Given the description of an element on the screen output the (x, y) to click on. 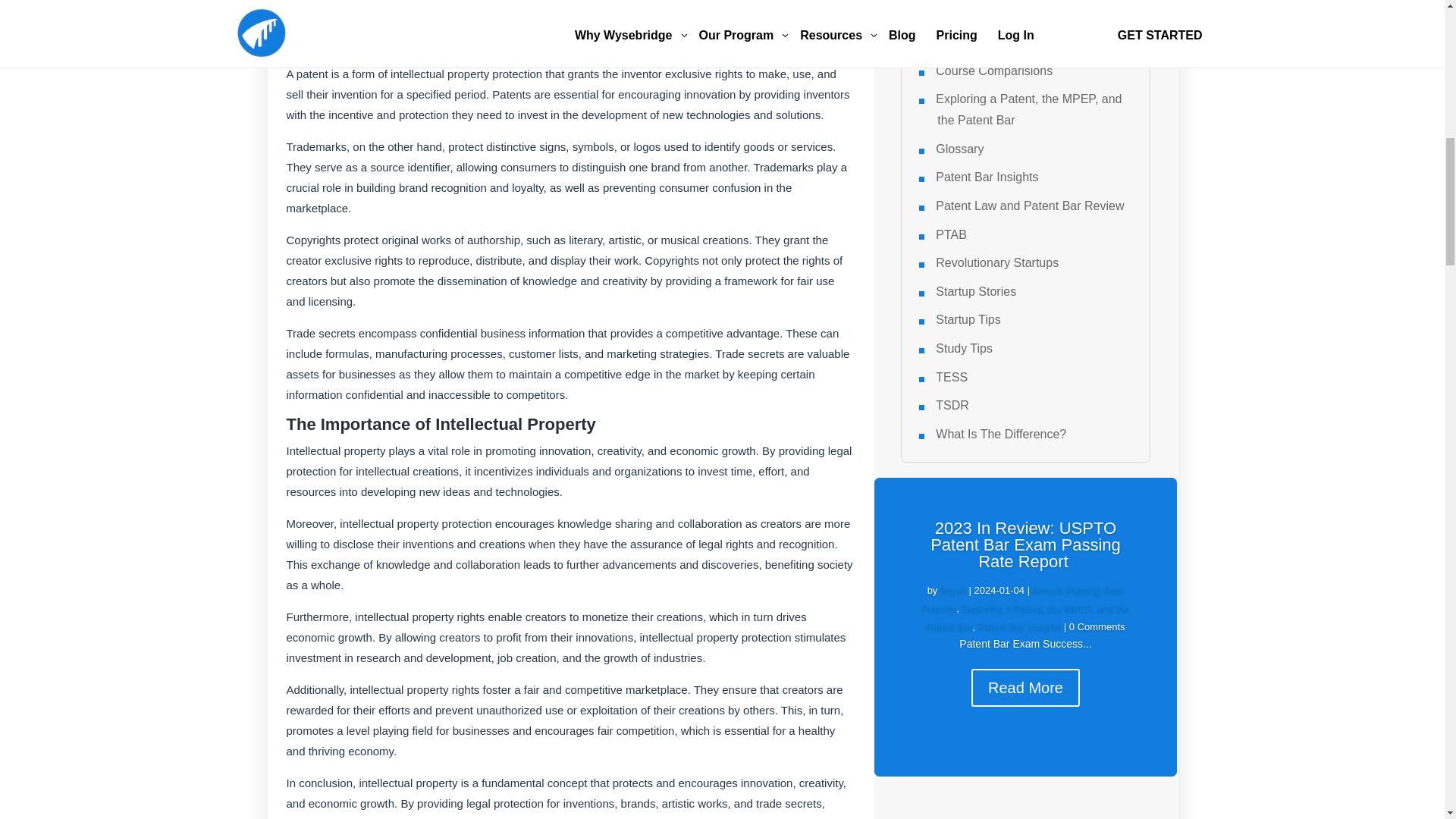
Posts by Bryan (953, 590)
